Given the description of an element on the screen output the (x, y) to click on. 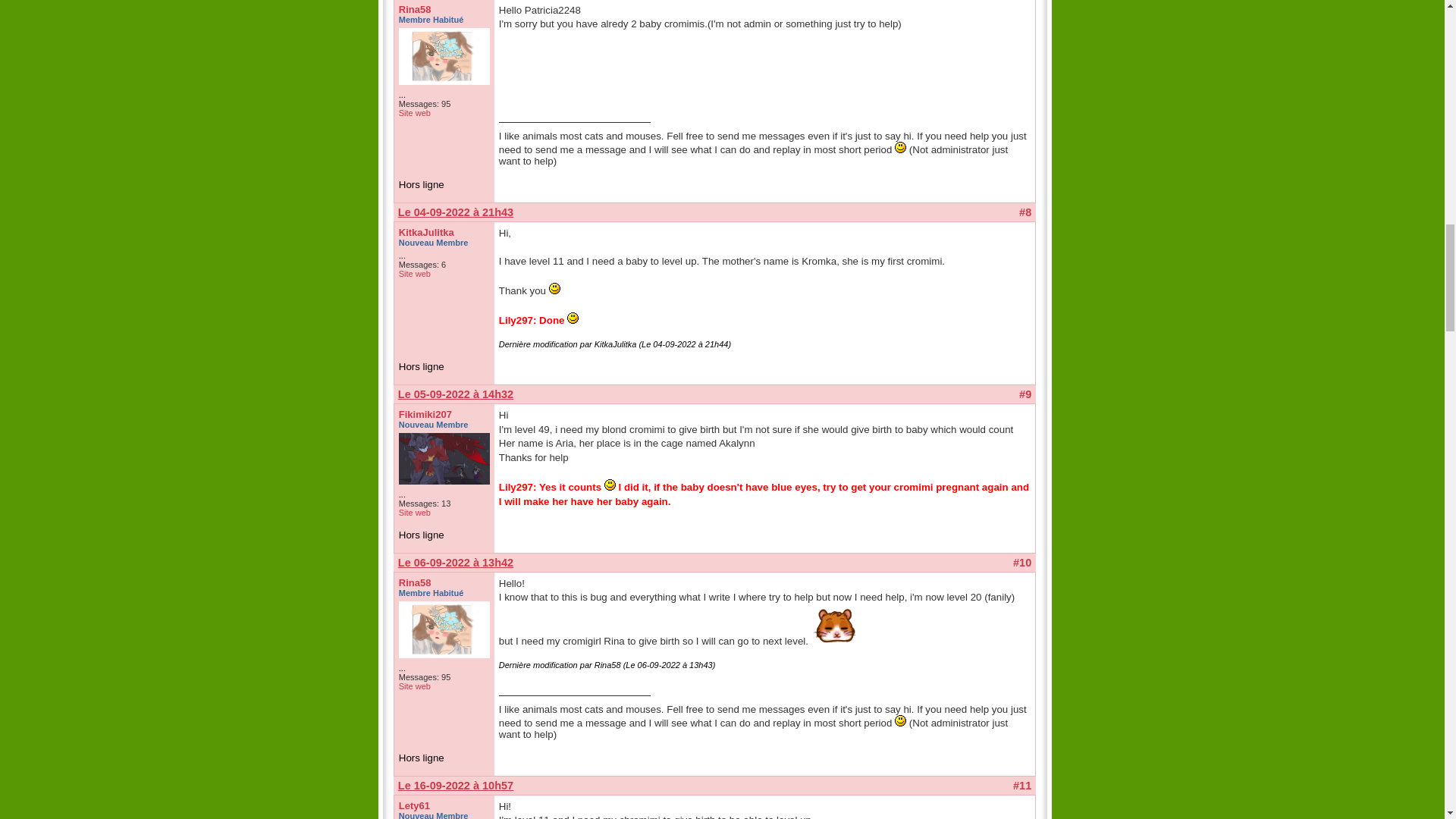
Site web (414, 273)
Fikimiki207 (424, 414)
Rina58 (414, 582)
Site web (414, 112)
KitkaJulitka (426, 232)
Rina58 (414, 9)
Site web (414, 511)
Site web (414, 686)
